Given the description of an element on the screen output the (x, y) to click on. 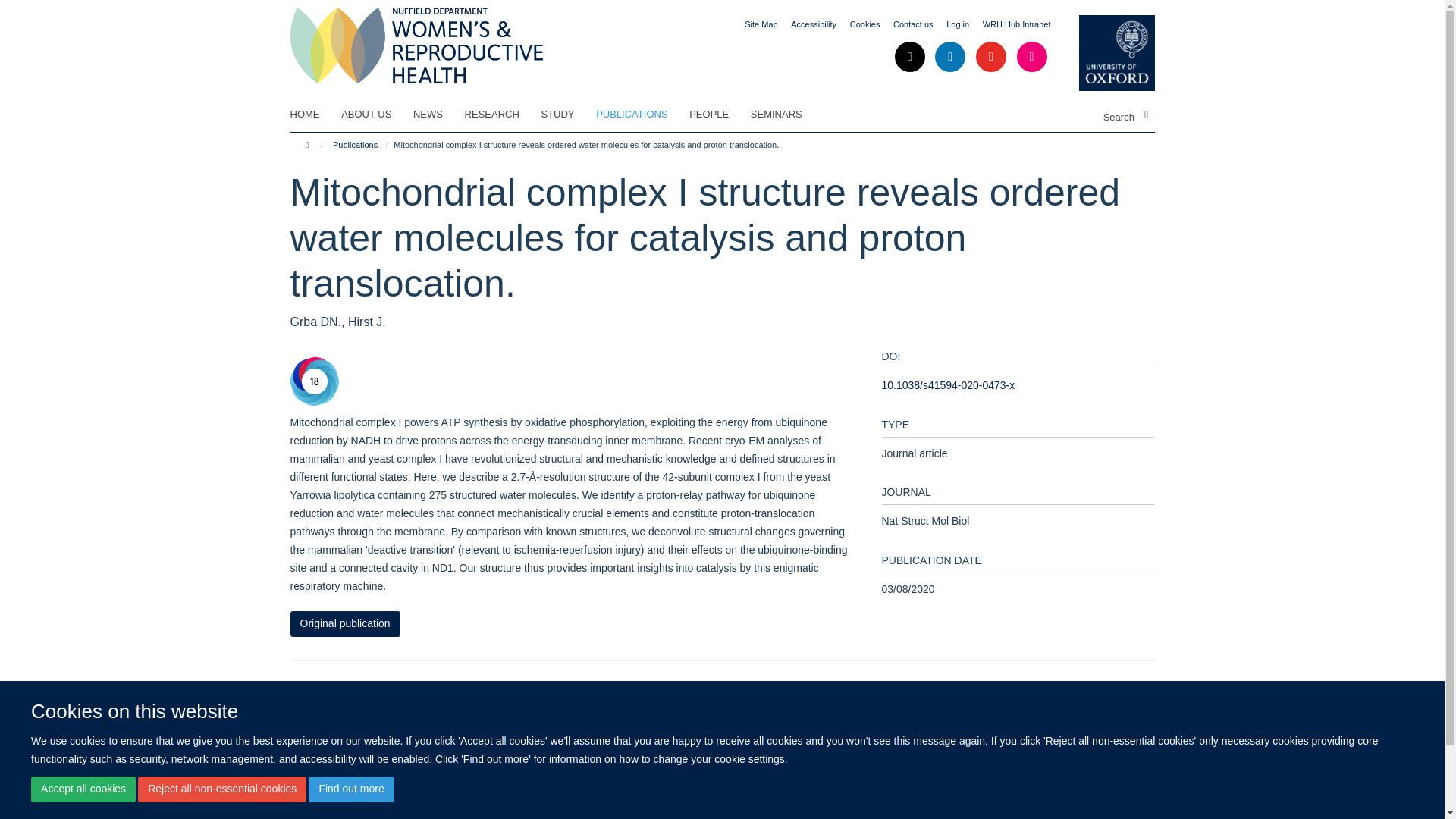
Accessibility (812, 23)
Reject all non-essential cookies (221, 789)
Site Map (760, 23)
Accept all cookies (82, 789)
Find out more (350, 789)
